Given the description of an element on the screen output the (x, y) to click on. 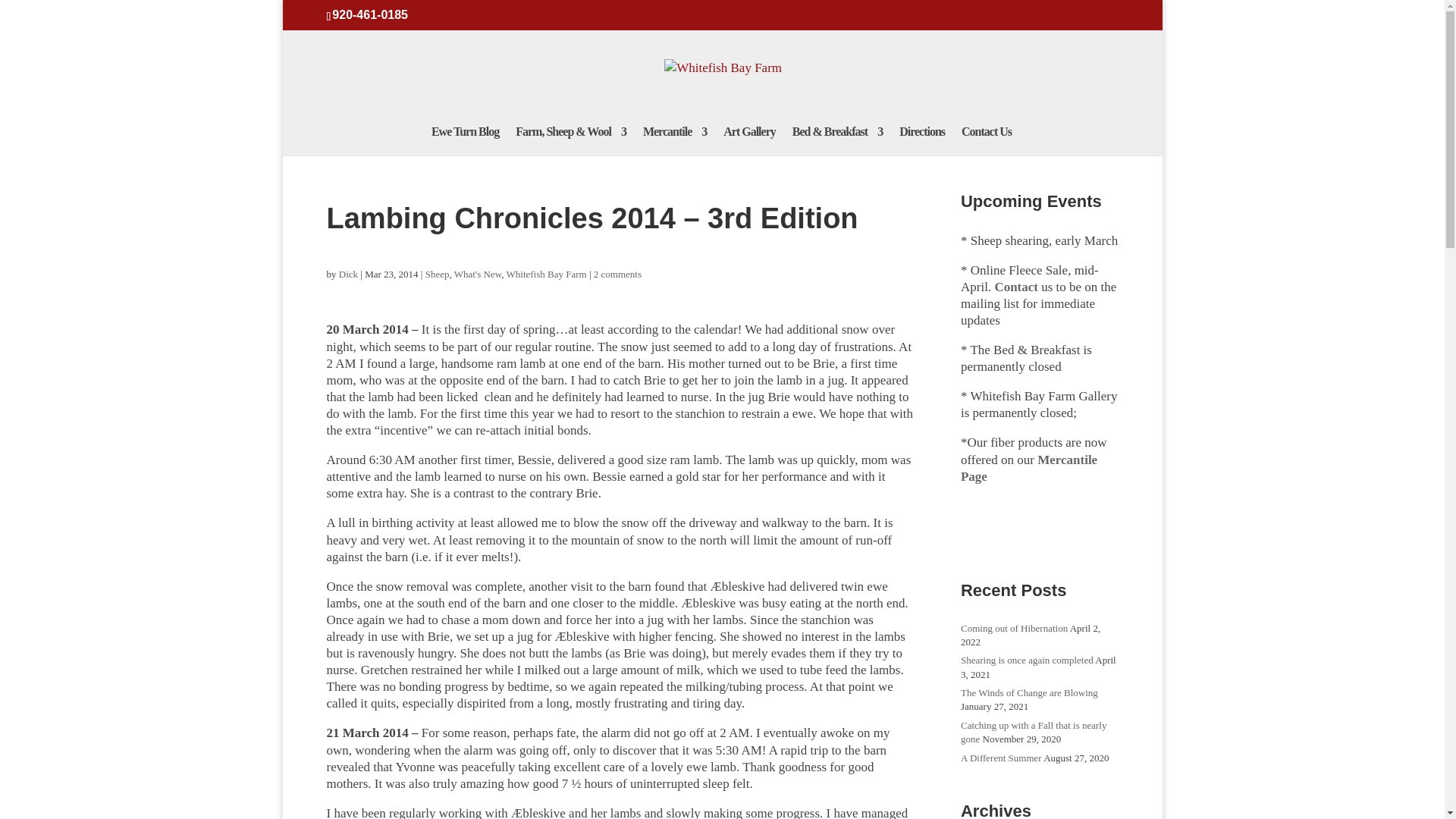
The Winds of Change are Blowing (1028, 692)
Shearing is once again completed (1026, 659)
Art Gallery (749, 140)
Catching up with a Fall that is nearly gone (1033, 731)
Contact (1016, 287)
Contact Us (985, 140)
Dick (348, 274)
Mercantile (674, 140)
What's New (478, 274)
Ewe Turn Blog (464, 140)
Sheep (437, 274)
Posts by Dick (348, 274)
Directions (921, 140)
Whitefish Bay Farm (546, 274)
Coming out of Hibernation (1013, 627)
